Given the description of an element on the screen output the (x, y) to click on. 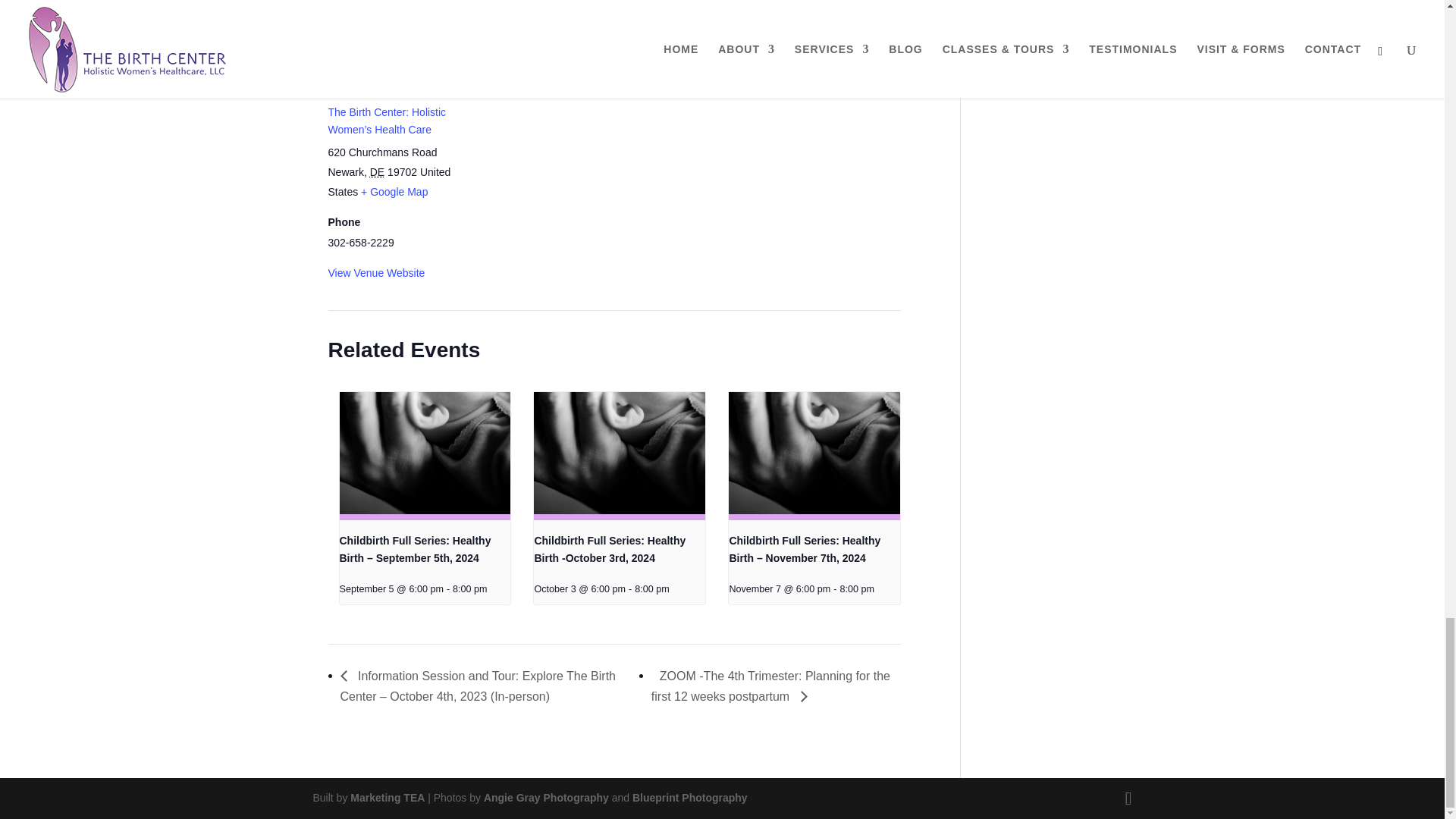
View Venue Website (376, 272)
Click to view a Google Map (394, 191)
Delaware (376, 172)
Childbirth Full Series (376, 17)
